Given the description of an element on the screen output the (x, y) to click on. 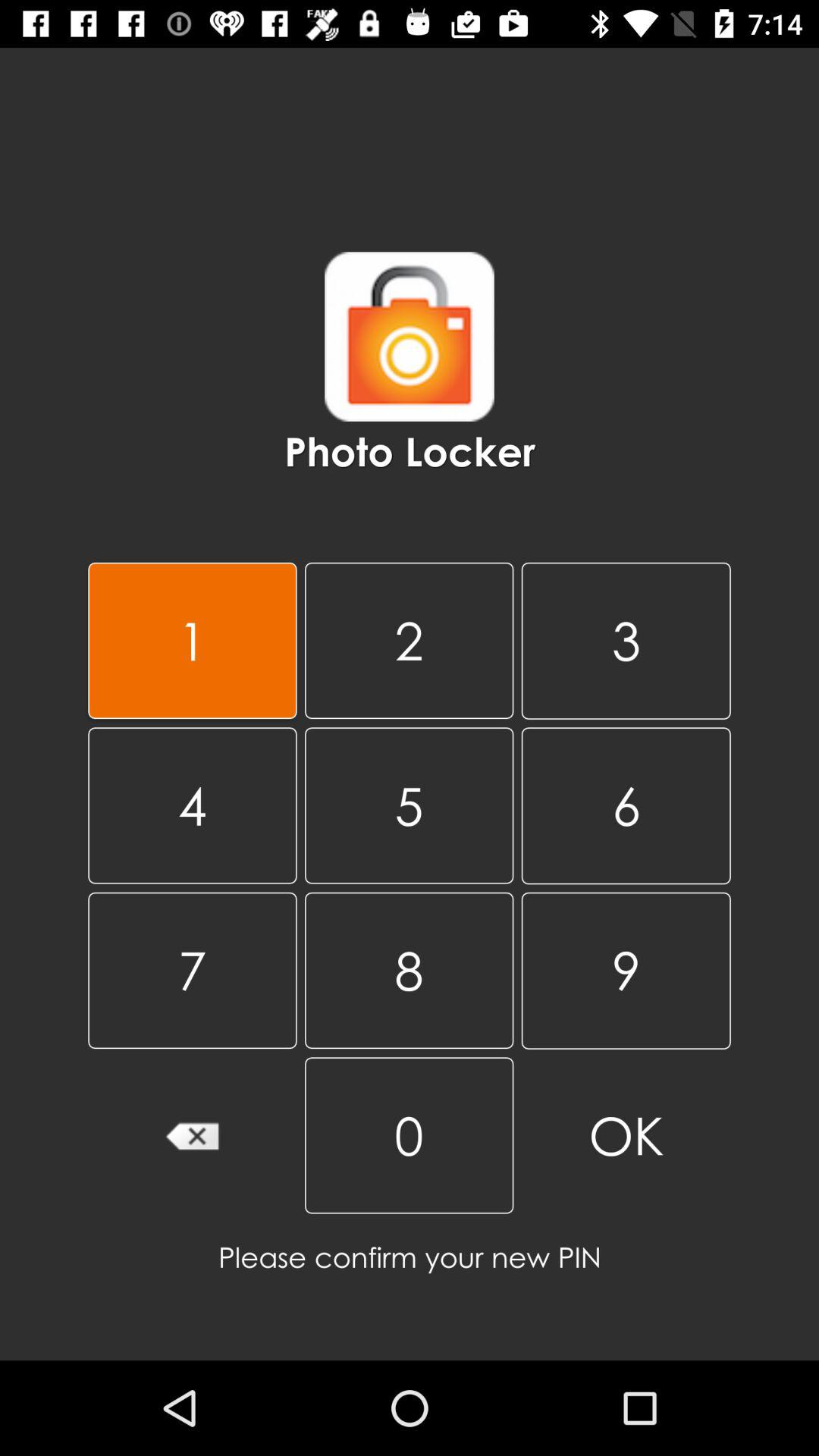
flip to 8 item (408, 970)
